Given the description of an element on the screen output the (x, y) to click on. 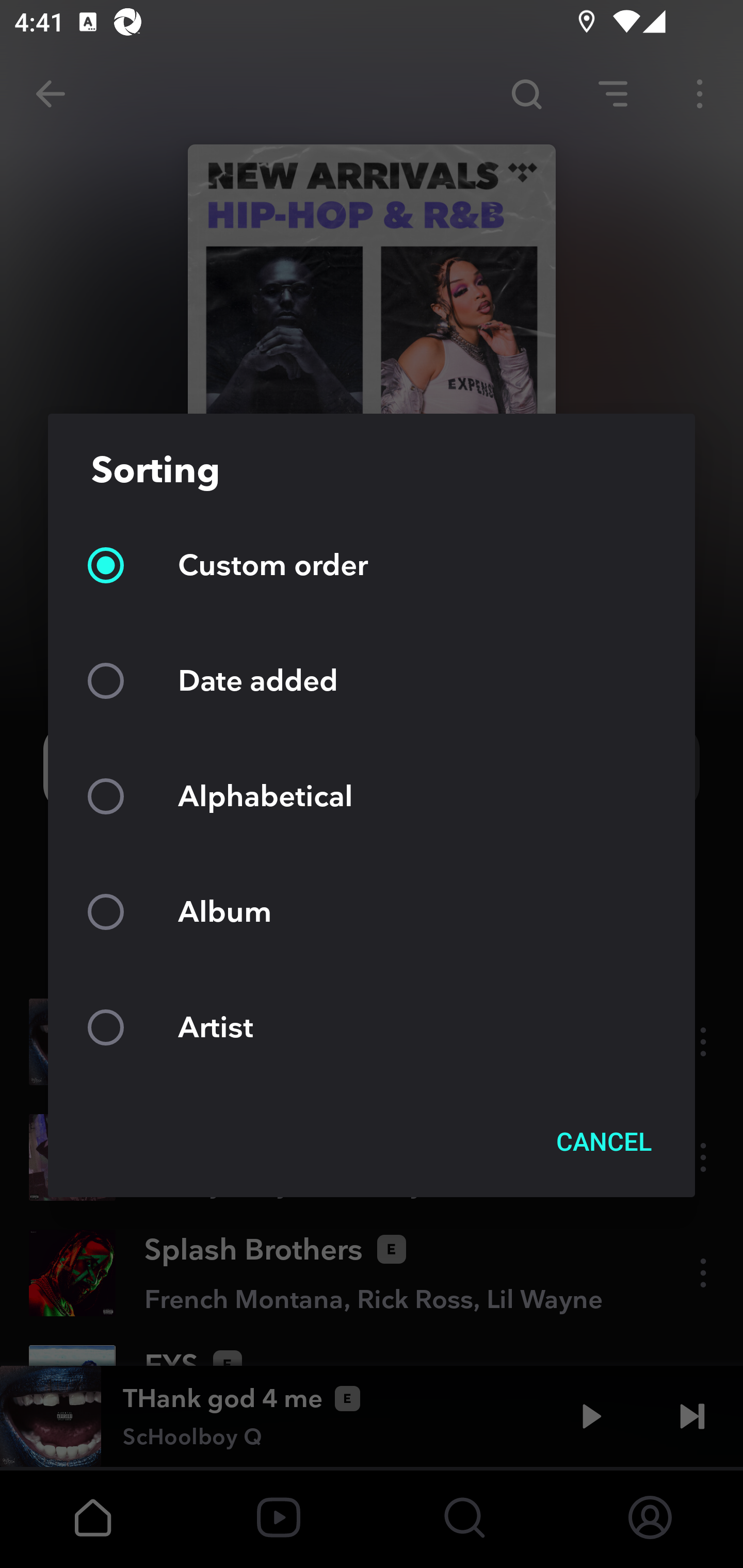
Custom order (371, 565)
Date added (371, 680)
Alphabetical (371, 796)
Album (371, 911)
Artist (371, 1027)
CANCEL (603, 1141)
